Given the description of an element on the screen output the (x, y) to click on. 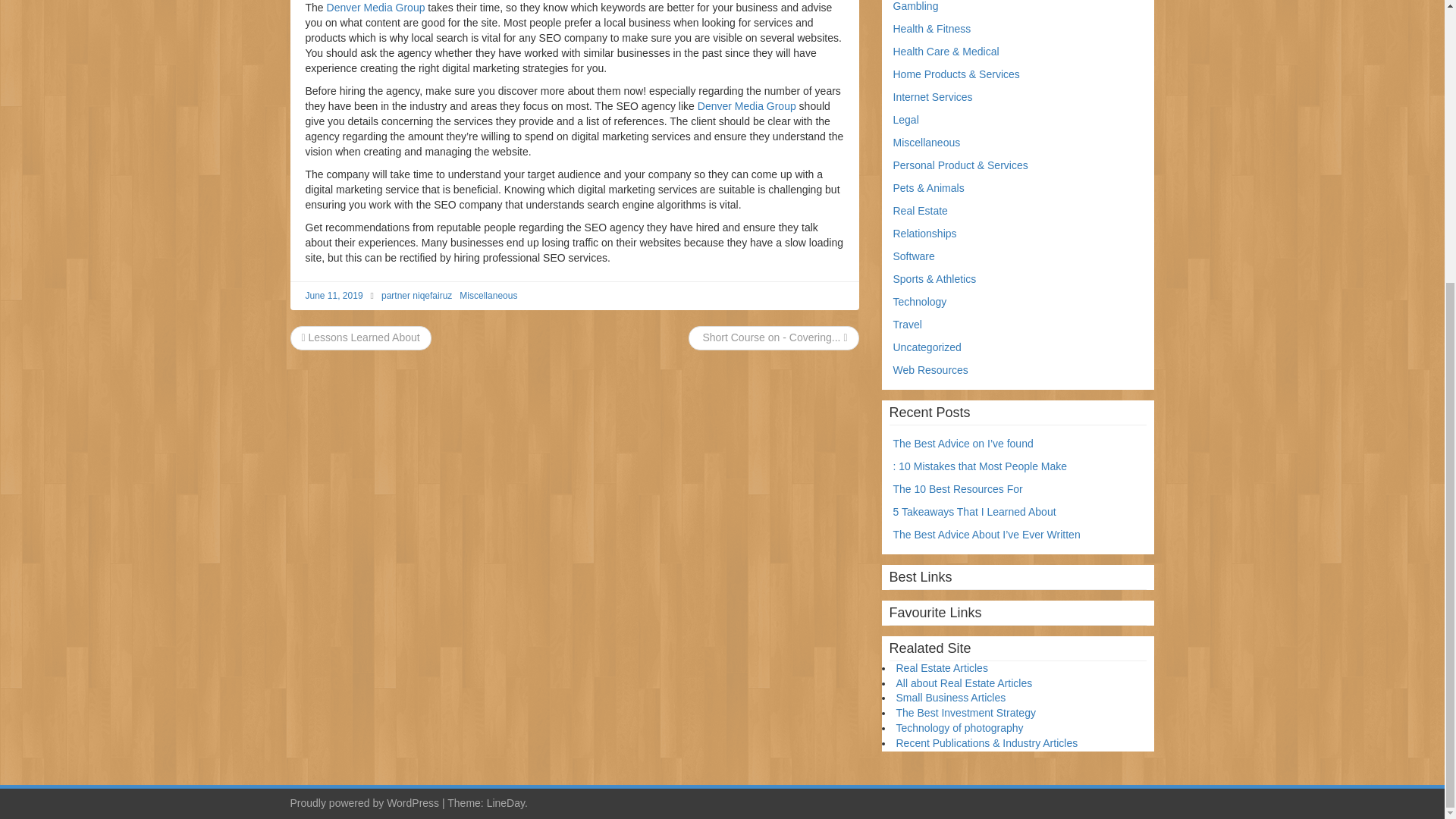
Denver Media Group (375, 7)
Uncategorized (926, 346)
 Lessons Learned About (360, 337)
: 10 Mistakes that Most People Make (980, 466)
Web Resources (930, 369)
Miscellaneous (488, 295)
 Short Course on - Covering...  (772, 337)
The 10 Best Resources For (958, 489)
Denver Media Group (746, 105)
Software (913, 256)
